Given the description of an element on the screen output the (x, y) to click on. 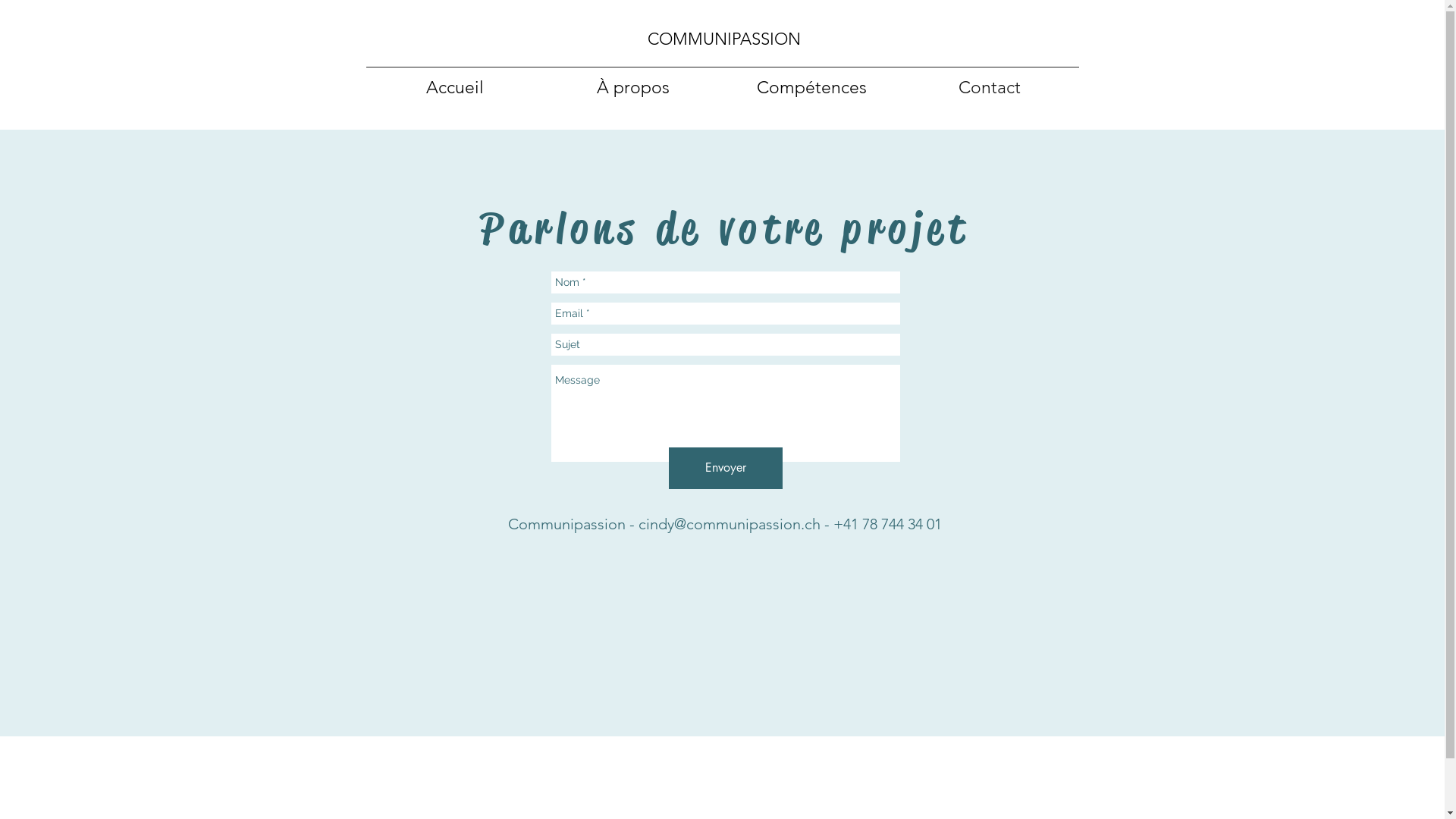
Contact Element type: text (989, 86)
COMMUNIPASSION Element type: text (723, 38)
Accueil Element type: text (454, 86)
cindy@communipassion.ch Element type: text (729, 523)
Envoyer Element type: text (725, 468)
